Given the description of an element on the screen output the (x, y) to click on. 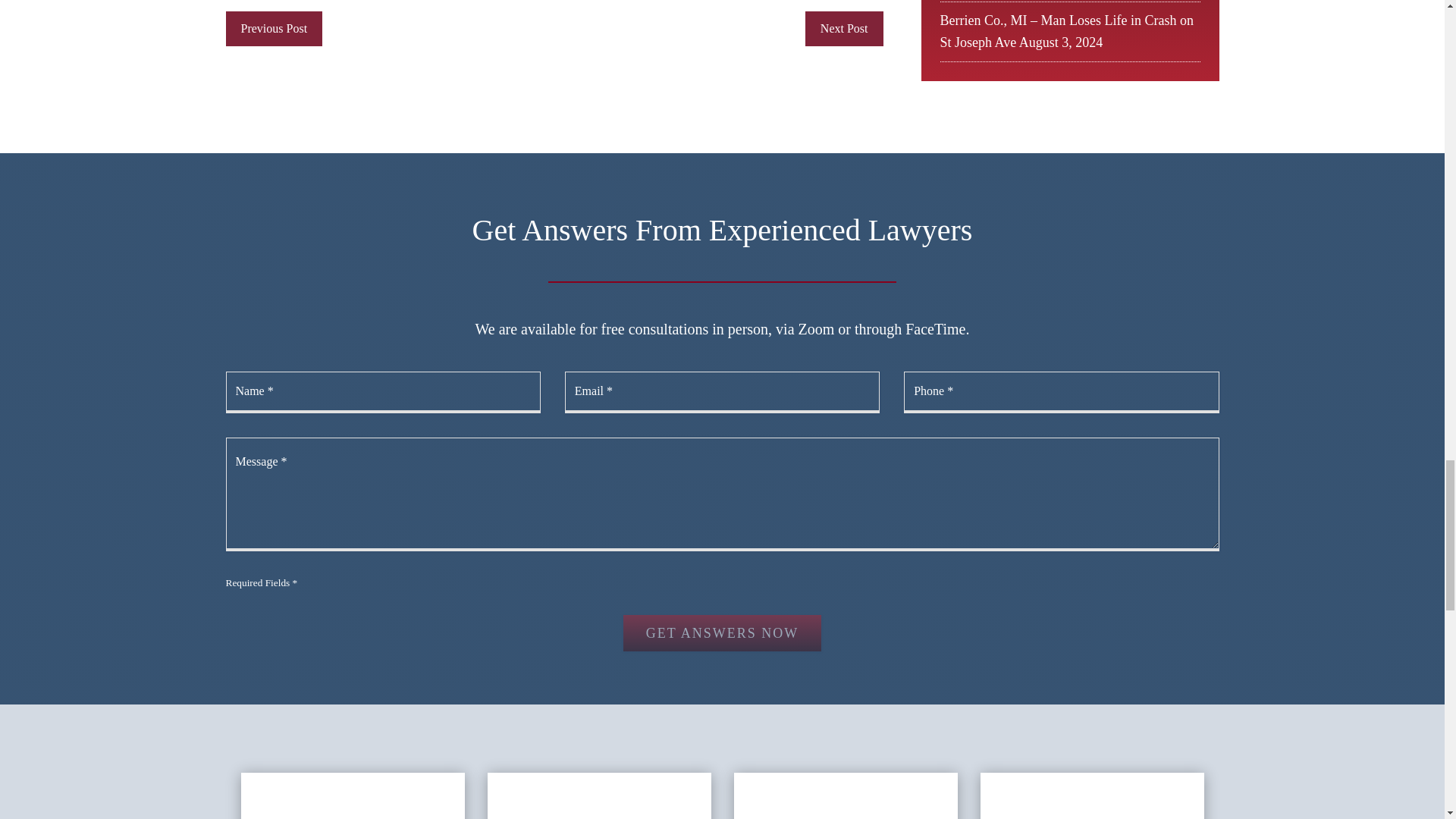
Next Post (844, 28)
Get Answers Now (722, 633)
Previous Post (274, 28)
